Given the description of an element on the screen output the (x, y) to click on. 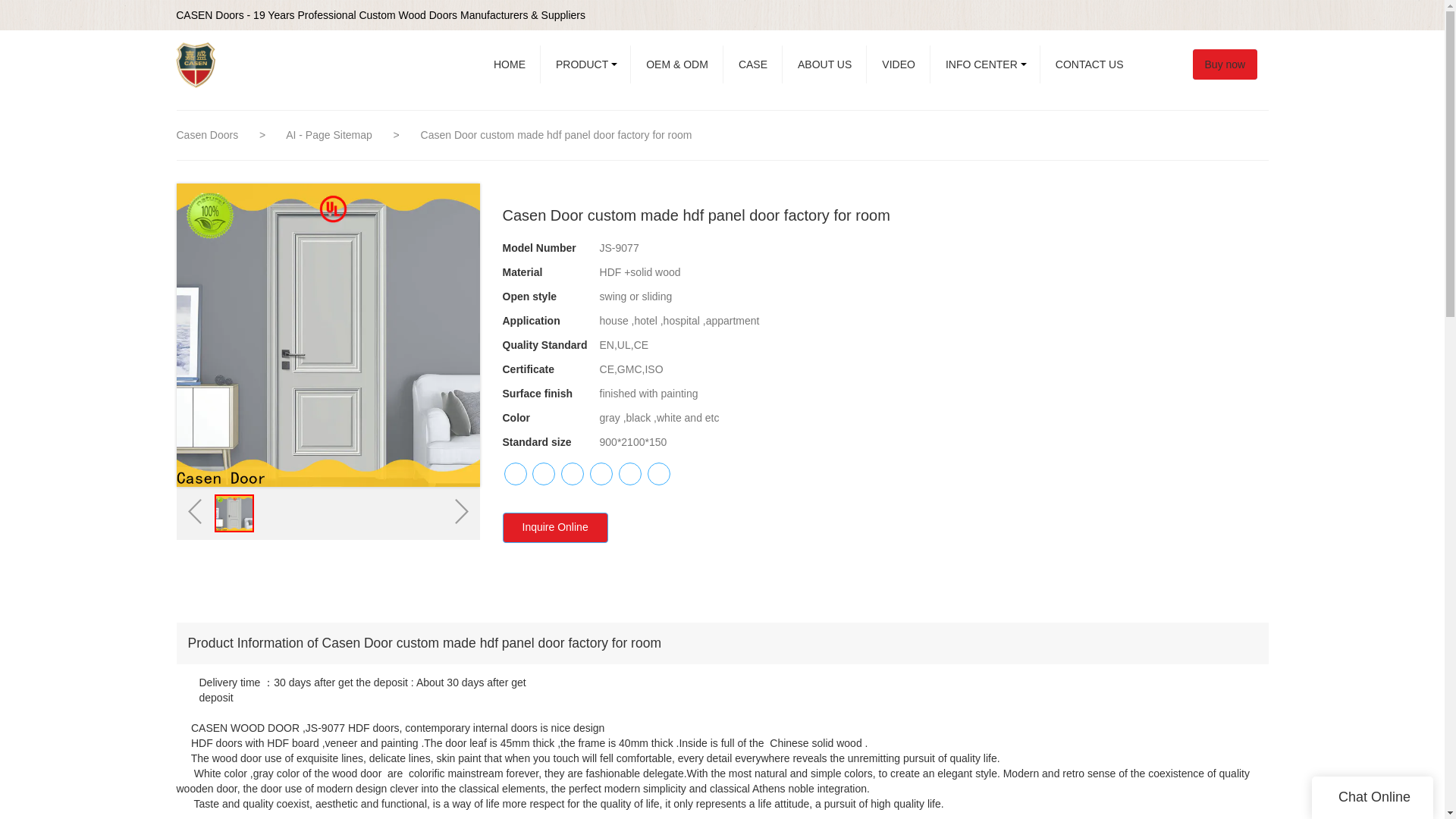
Buy now     (1231, 64)
PRODUCT (585, 64)
CONTACT US (1089, 64)
INFO CENTER (985, 64)
HOME (509, 64)
VIDEO (898, 64)
Inquire Online (554, 527)
AI - Page Sitemap (330, 134)
ABOUT US (824, 64)
Casen Doors (207, 134)
